Given the description of an element on the screen output the (x, y) to click on. 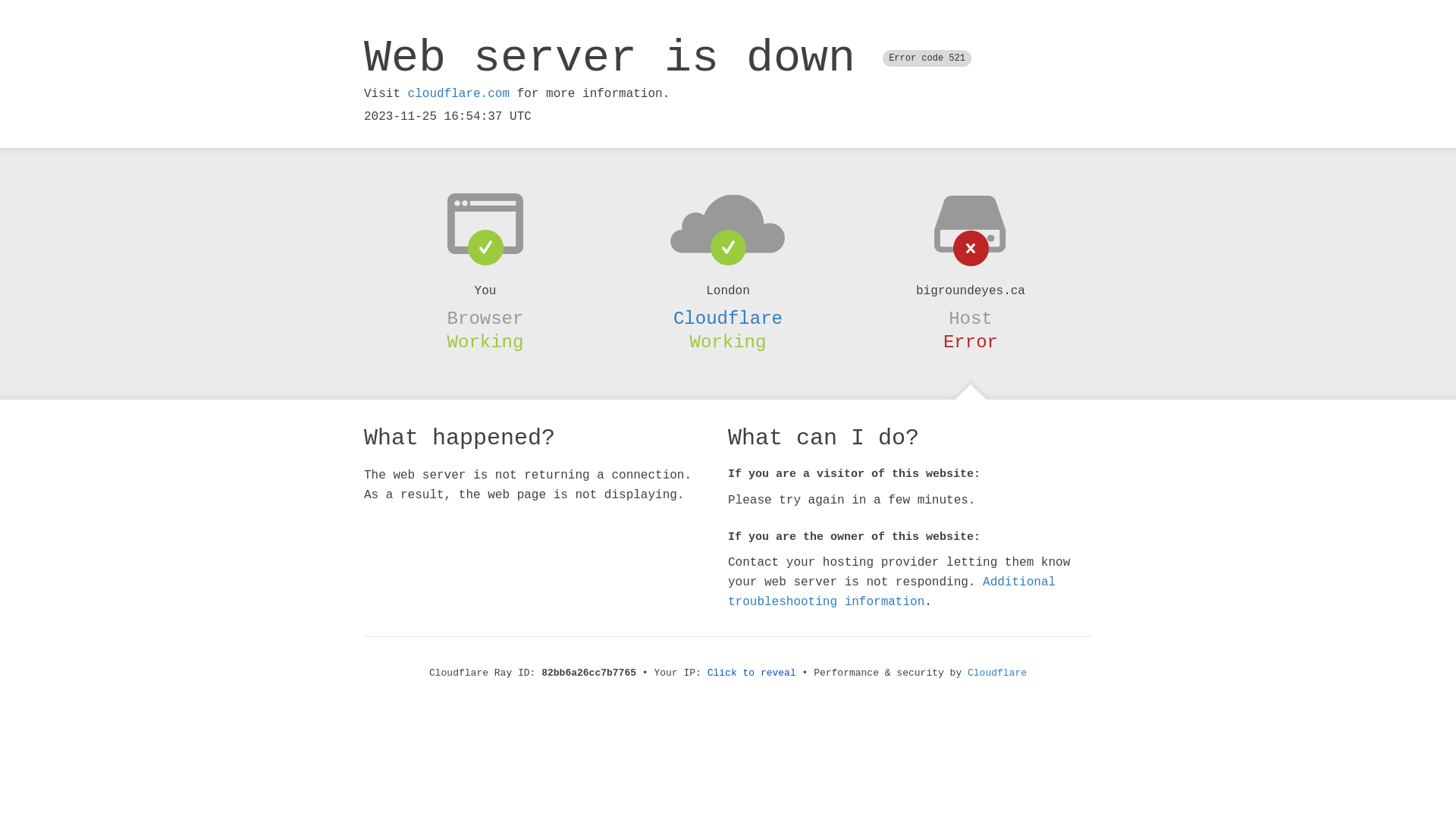
cloudflare.com Element type: text (458, 93)
Cloudflare Element type: text (996, 672)
Cloudflare Element type: text (727, 318)
Additional troubleshooting information Element type: text (891, 591)
Click to reveal Element type: text (751, 672)
